Given the description of an element on the screen output the (x, y) to click on. 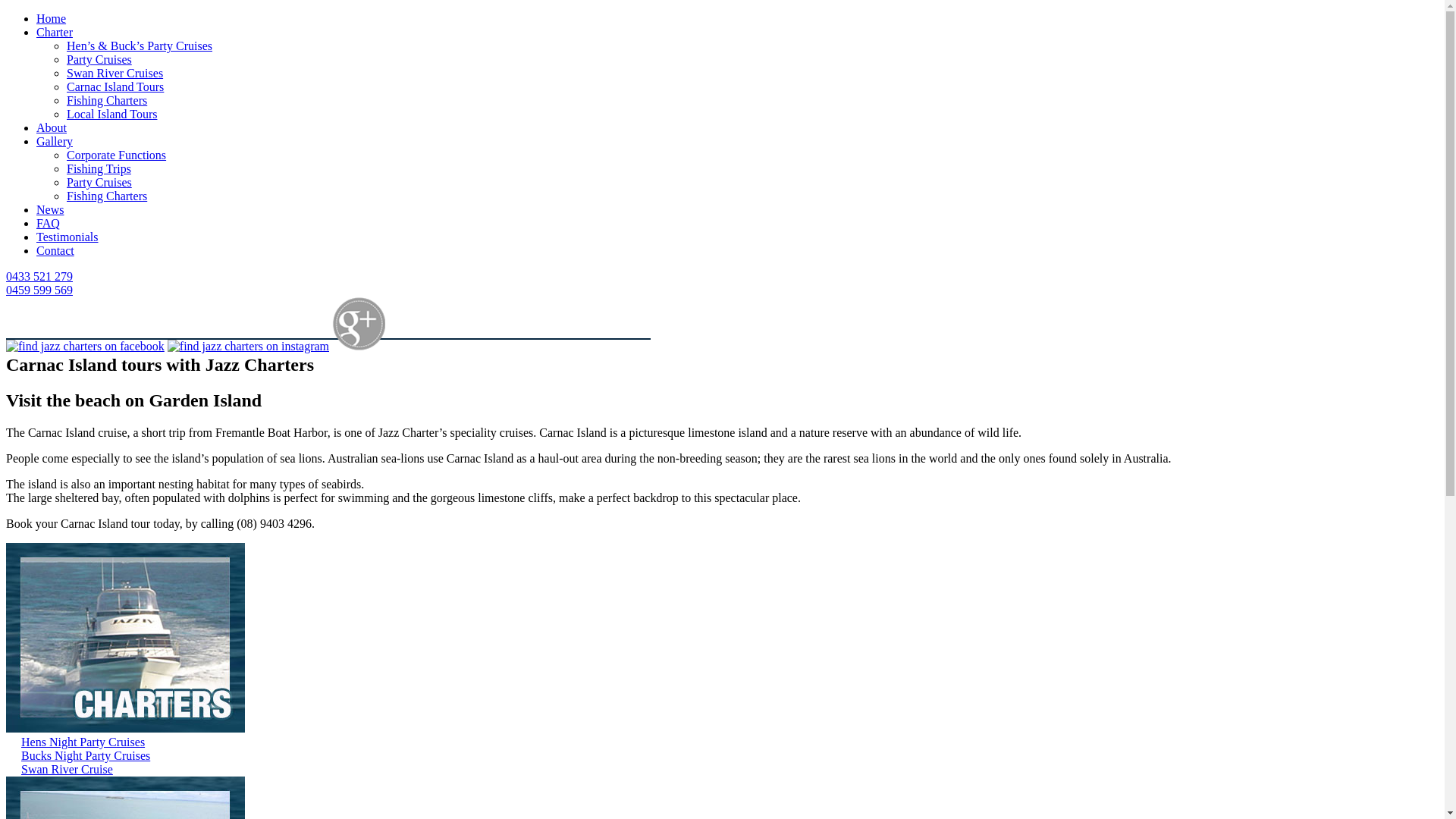
Charter Element type: text (54, 31)
FAQ Element type: text (47, 222)
Testimonials Element type: text (67, 236)
Swan River Cruises Element type: text (114, 72)
About Element type: text (51, 127)
Home Element type: text (50, 18)
Fishing Charters Element type: text (106, 195)
Corporate Functions Element type: text (116, 154)
0433 521 279 Element type: text (39, 275)
Party Cruises Element type: text (98, 181)
Hens Night Party Cruises Element type: text (82, 741)
Gallery Element type: text (54, 140)
Local Island Tours Element type: text (111, 113)
Party Cruises Element type: text (98, 59)
Bucks Night Party Cruises Element type: text (85, 755)
News Element type: text (49, 209)
Carnac Island Tours Element type: text (114, 86)
Swan River Cruise Element type: text (66, 768)
Contact Element type: text (55, 250)
0459 599 569 Element type: text (39, 289)
Fishing Trips Element type: text (98, 168)
Fishing Charters Element type: text (106, 100)
